Given the description of an element on the screen output the (x, y) to click on. 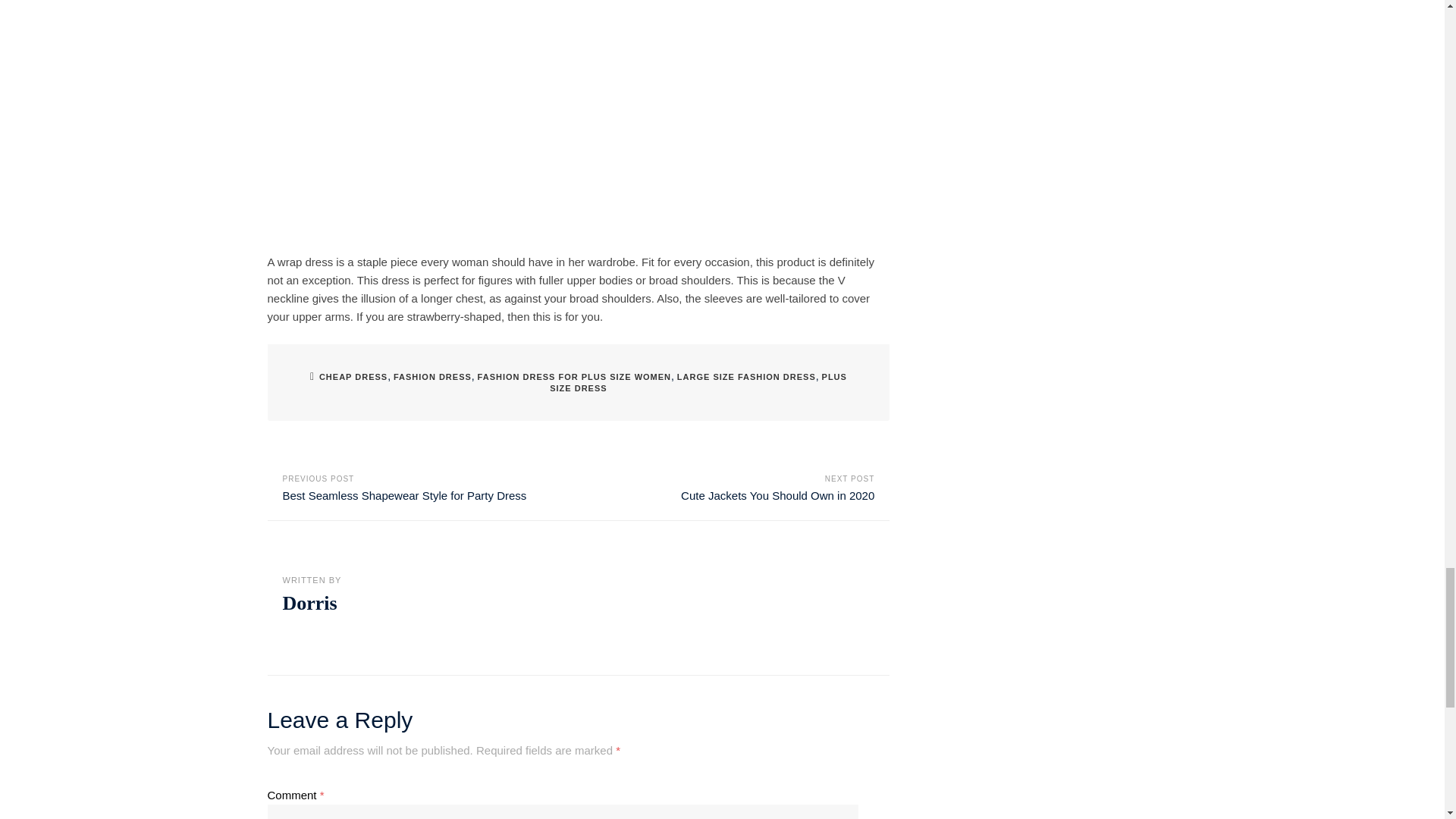
FASHION DRESS (432, 376)
CHEAP DRESS (352, 376)
FASHION DRESS FOR PLUS SIZE WOMEN (574, 376)
Dorris (309, 603)
PLUS SIZE DRESS (698, 382)
Best Seamless Shapewear Style for Party Dress (403, 495)
LARGE SIZE FASHION DRESS (746, 376)
Cute Jackets You Should Own in 2020 (778, 495)
